Given the description of an element on the screen output the (x, y) to click on. 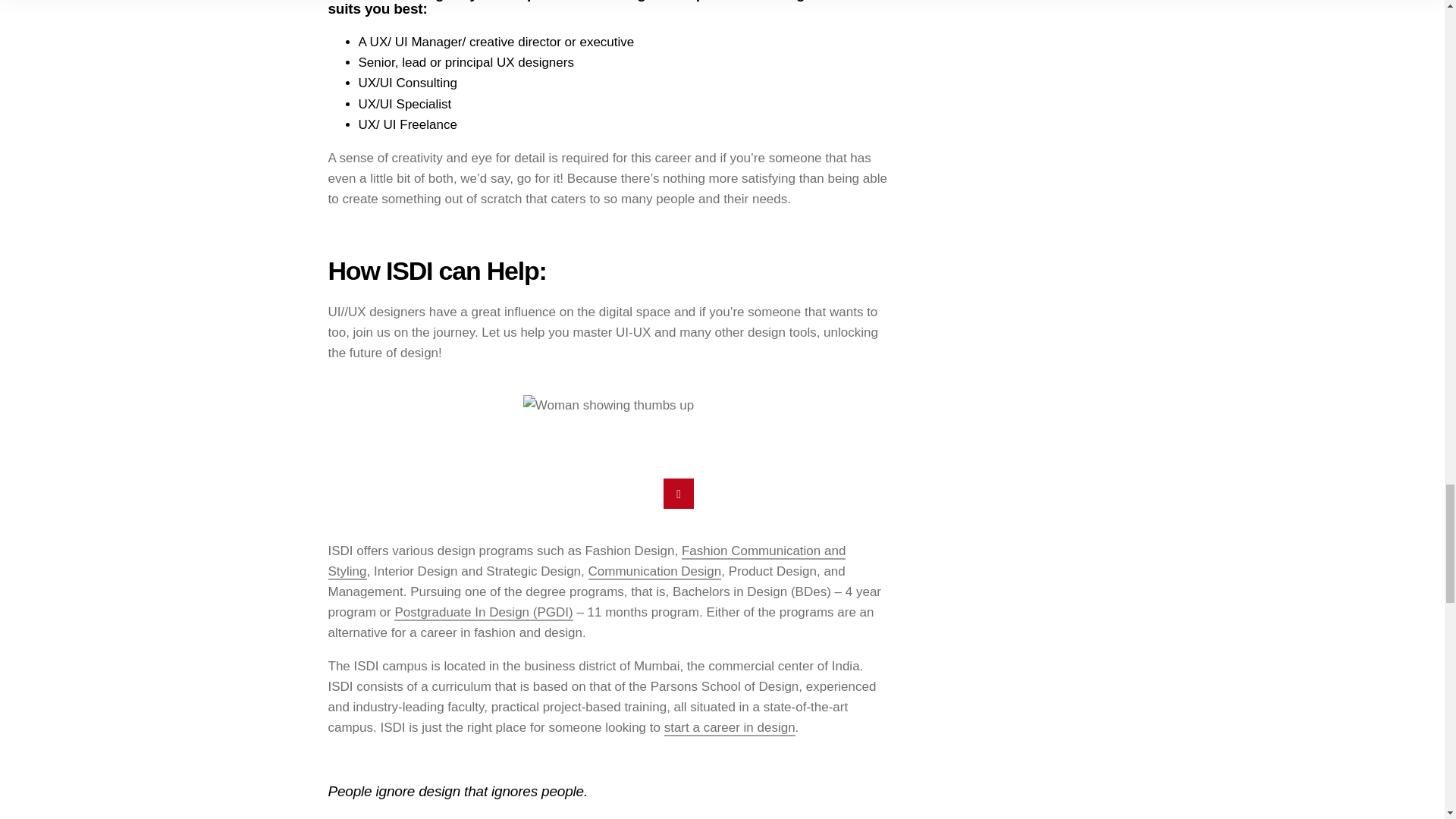
Fashion Communication and Styling (586, 561)
start a career in design (728, 728)
Communication Design (655, 571)
